Given the description of an element on the screen output the (x, y) to click on. 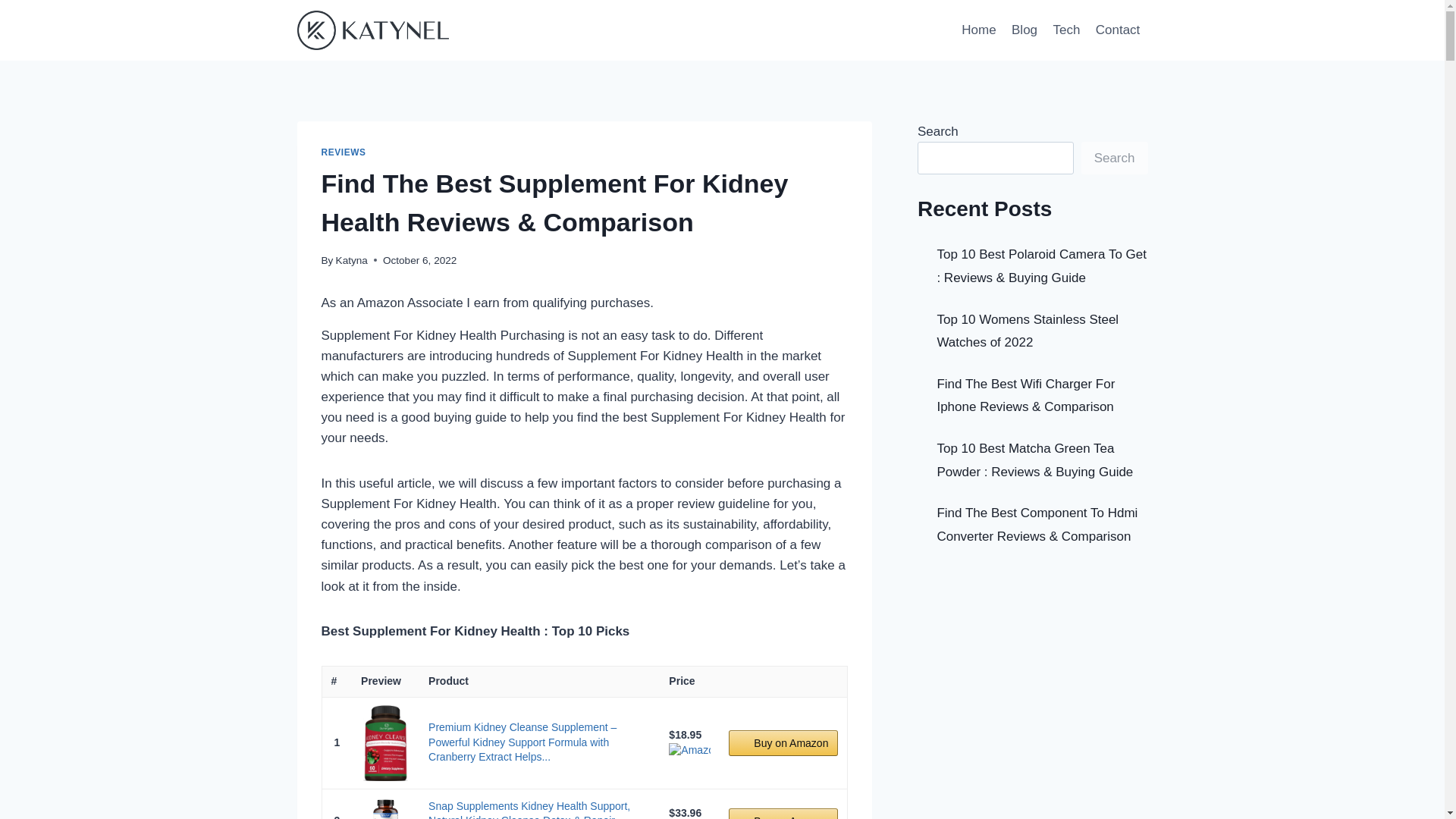
Buy on Amazon (783, 742)
Buy on Amazon (783, 813)
REVIEWS (343, 152)
Contact (1117, 30)
Home (978, 30)
Blog (1024, 30)
Amazon Prime (689, 749)
Buy on Amazon (783, 742)
Buy on Amazon (783, 813)
Katyna (352, 260)
